Given the description of an element on the screen output the (x, y) to click on. 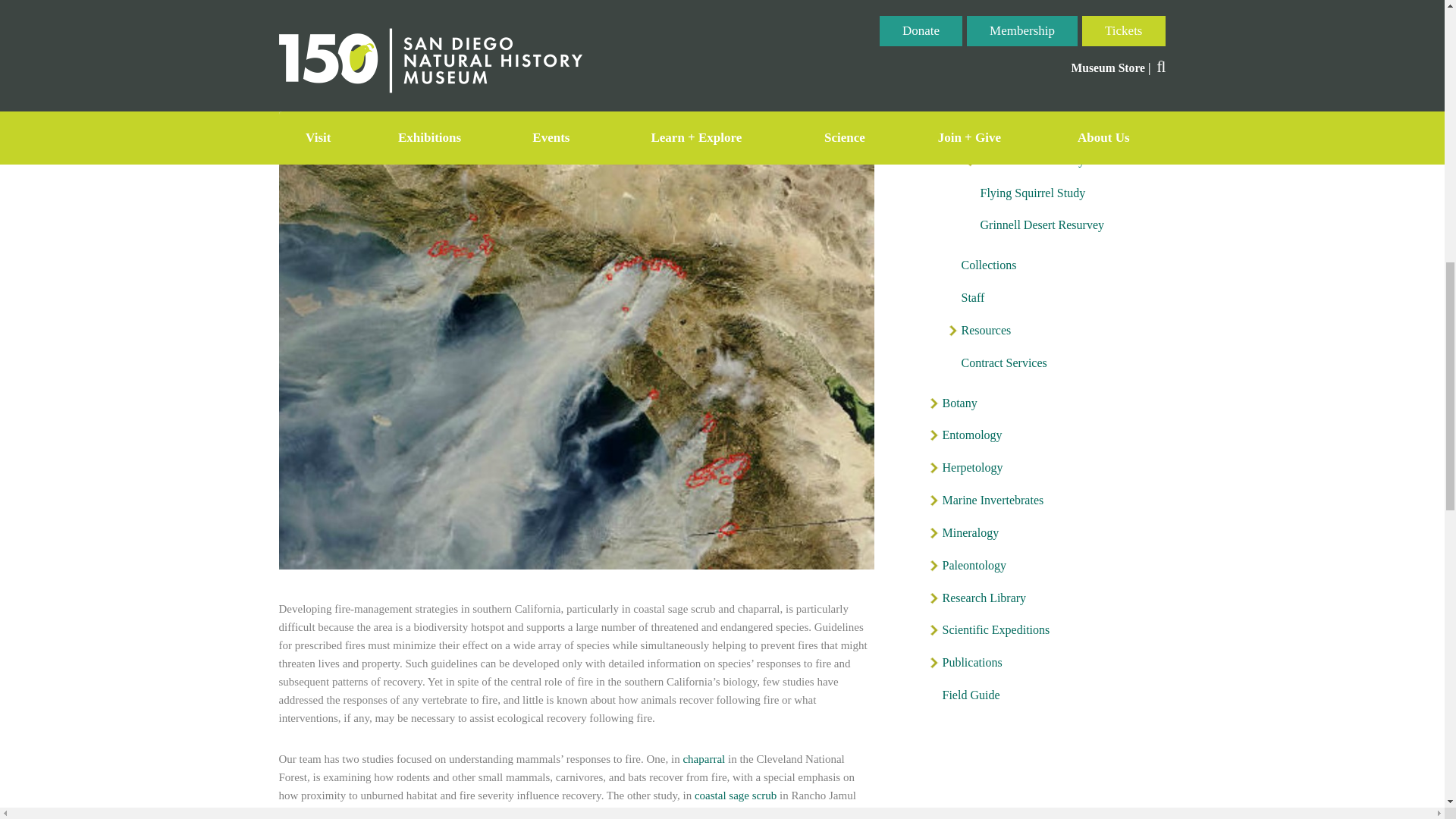
Coastal Sage Scrub: Rodents (735, 795)
Chaparral (703, 758)
